Given the description of an element on the screen output the (x, y) to click on. 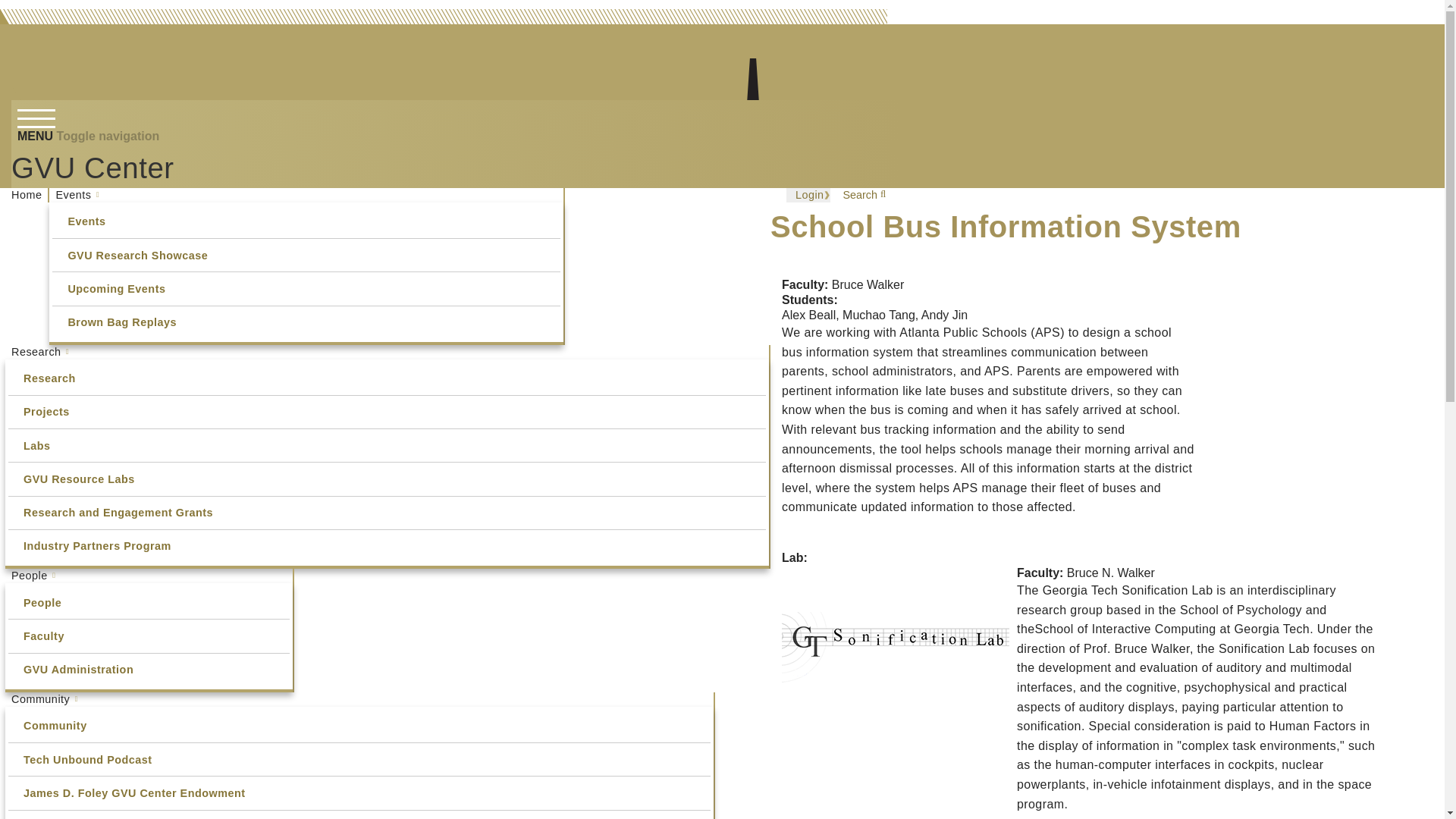
Events (306, 221)
People (149, 602)
People (148, 575)
undefined (306, 221)
James D. Foley GVU Center Endowment (359, 792)
Community (359, 726)
Community (359, 699)
Home (26, 195)
Labs (387, 445)
Search (954, 210)
GVU Administration (148, 669)
Research and Engagement Grants (387, 513)
undefined (359, 726)
Search (859, 195)
Georgia Institute of Technology (454, 226)
